Given the description of an element on the screen output the (x, y) to click on. 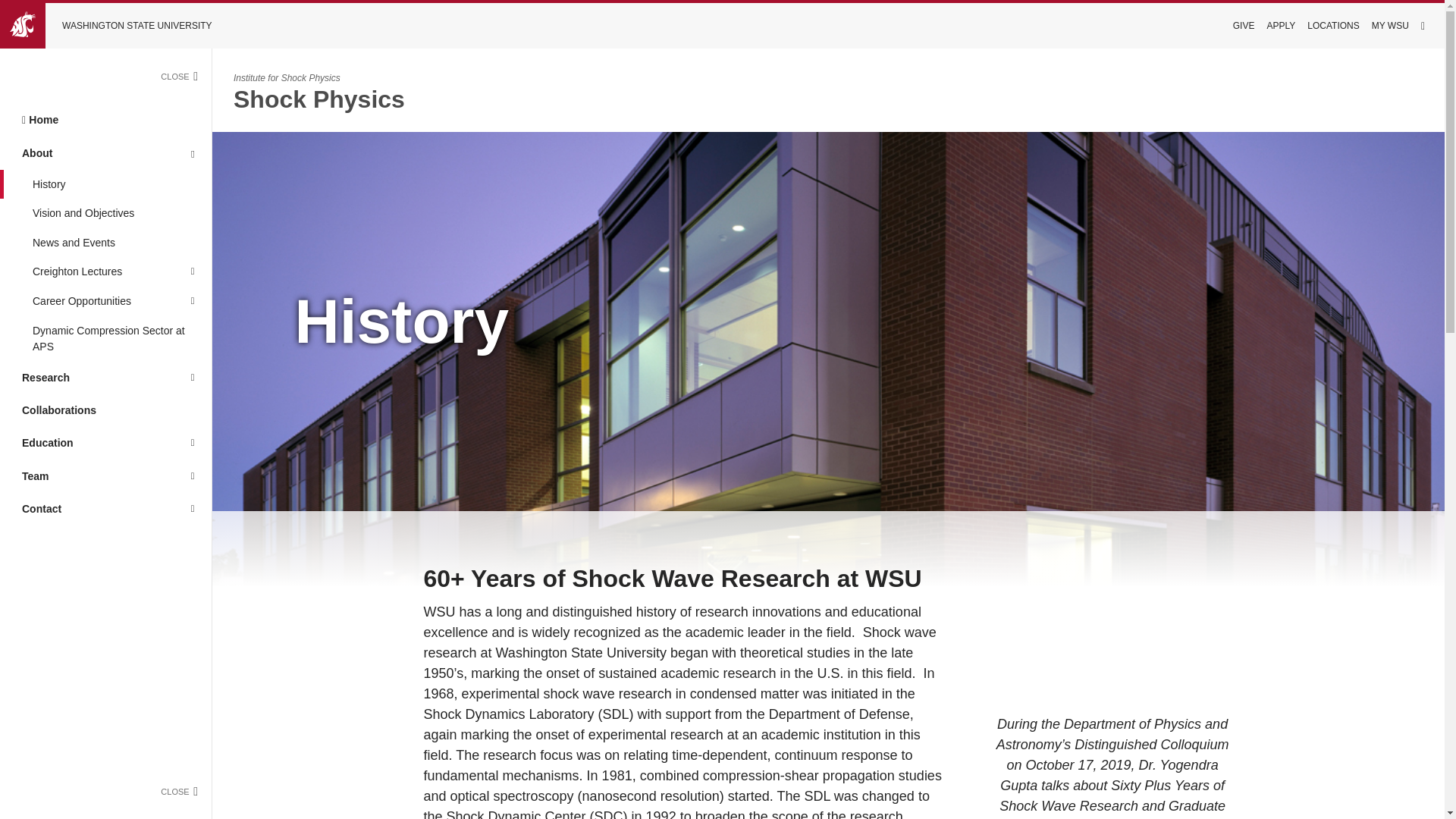
Vision and Objectives (105, 213)
Dynamic Compression Sector at APS (105, 338)
History (105, 184)
CLOSE (185, 76)
About (86, 152)
Home (105, 120)
Career Opportunities (86, 301)
News and Events (105, 242)
Creighton Lectures (86, 272)
Research (86, 377)
WASHINGTON STATE UNIVERSITY (117, 25)
LOCATIONS (1332, 25)
